Given the description of an element on the screen output the (x, y) to click on. 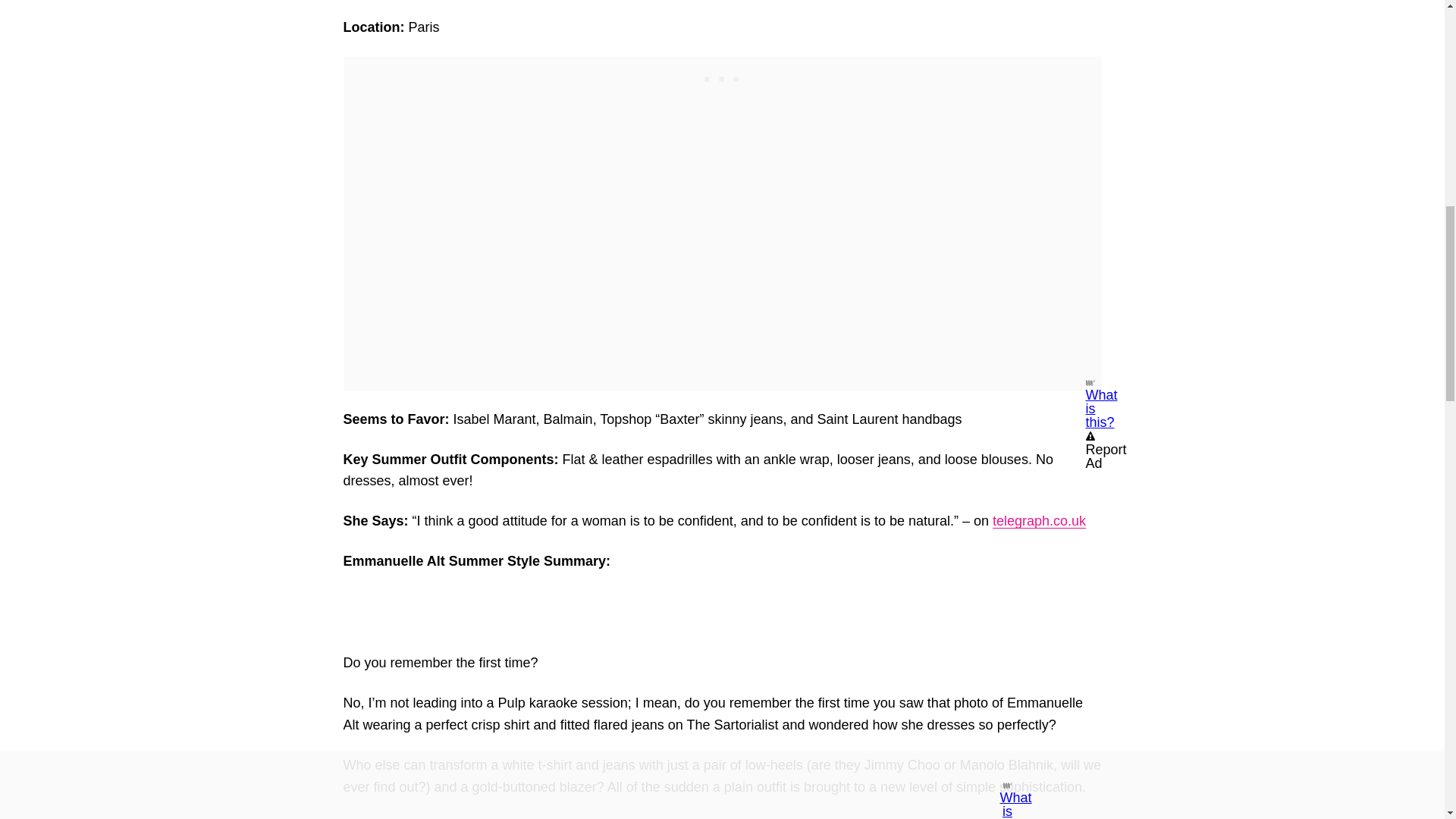
3rd party ad content (721, 75)
